Given the description of an element on the screen output the (x, y) to click on. 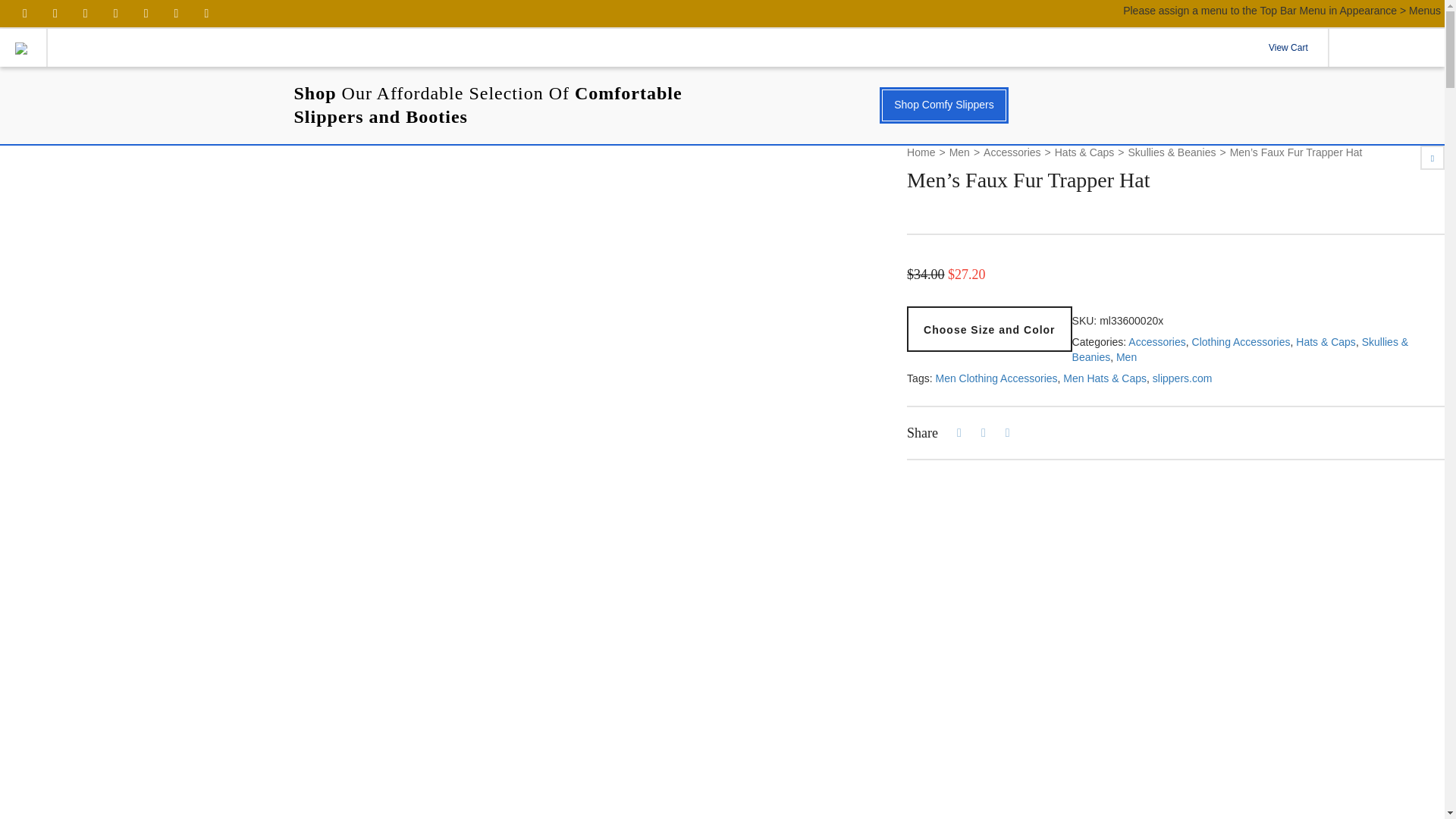
Clothing Accessories (1241, 341)
slippers.com (1182, 378)
Accessories (1012, 152)
Men (959, 152)
Accessories (1156, 341)
Men Clothing Accessories (995, 378)
Home (920, 152)
Choose Size and Color (989, 329)
View Cart (1287, 47)
Men (1126, 357)
